Given the description of an element on the screen output the (x, y) to click on. 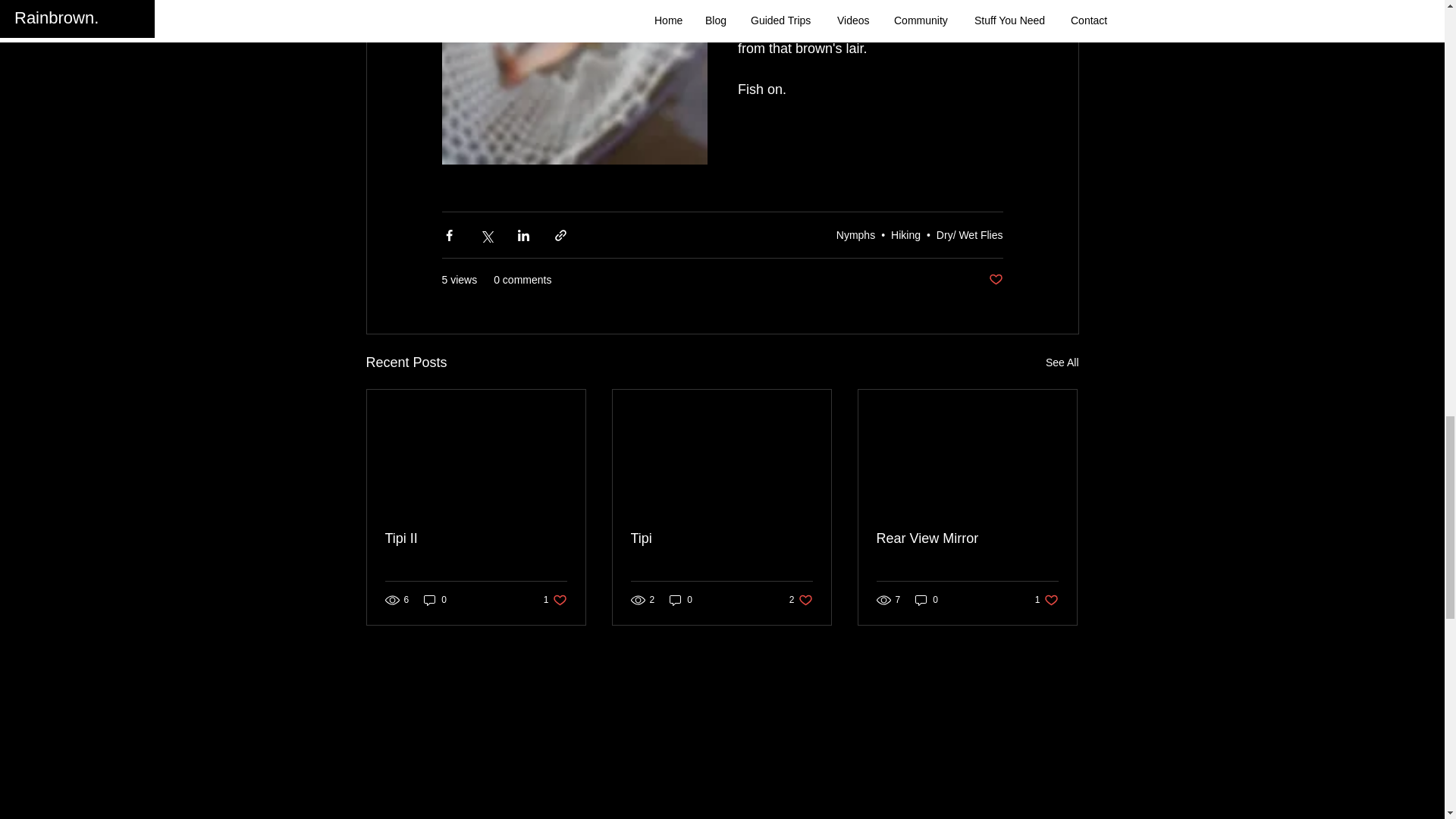
Post not marked as liked (995, 279)
Tipi (721, 538)
Tipi II (476, 538)
0 (435, 599)
0 (800, 599)
See All (681, 599)
Hiking (1061, 362)
Rear View Mirror (905, 234)
Nymphs (967, 538)
0 (855, 234)
